Given the description of an element on the screen output the (x, y) to click on. 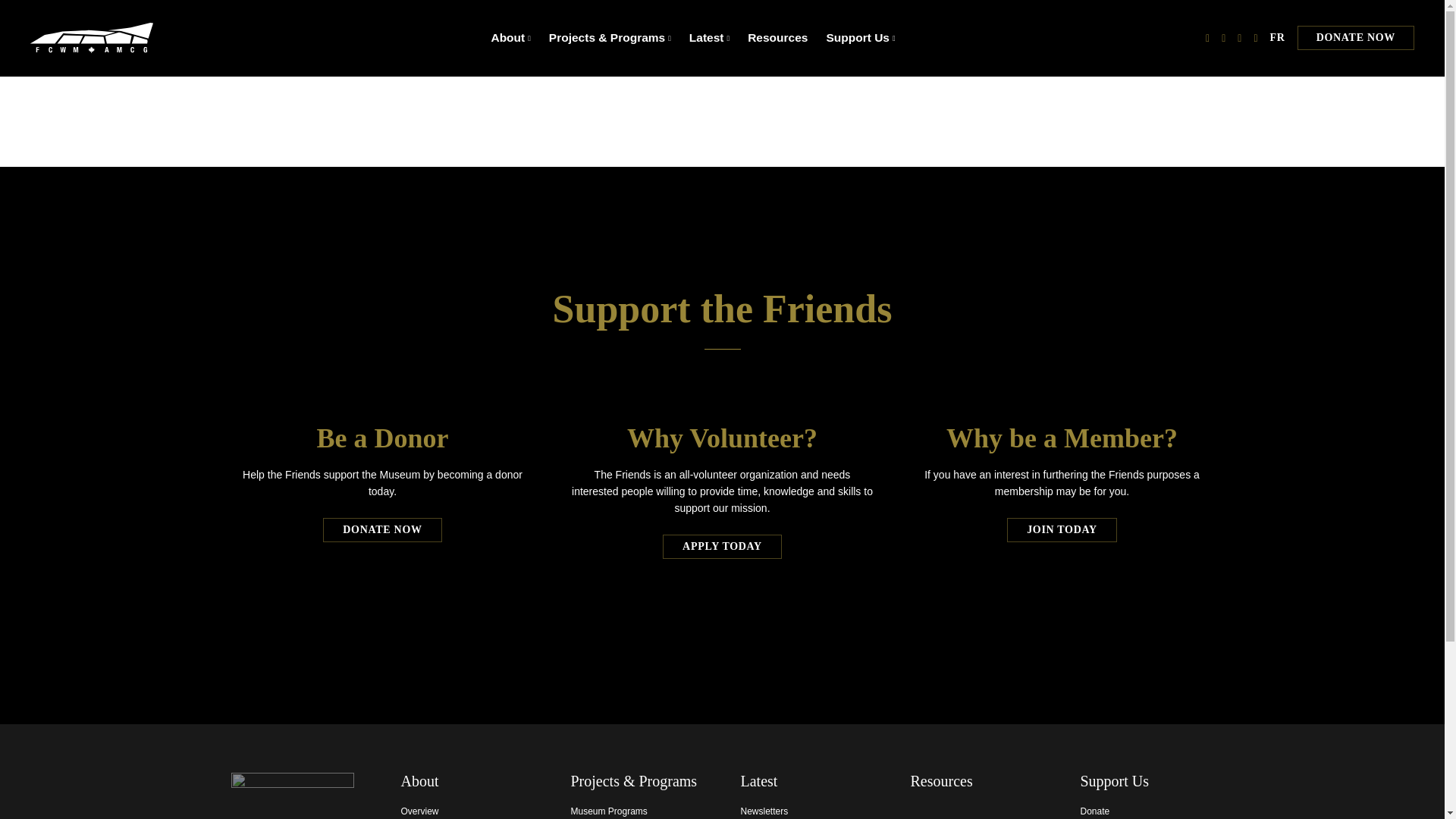
DONATE NOW (1355, 37)
Latest (705, 37)
FR (1277, 37)
Resources (786, 37)
FR (1277, 37)
About (507, 37)
Support Us (857, 37)
DONATE NOW (382, 529)
